Given the description of an element on the screen output the (x, y) to click on. 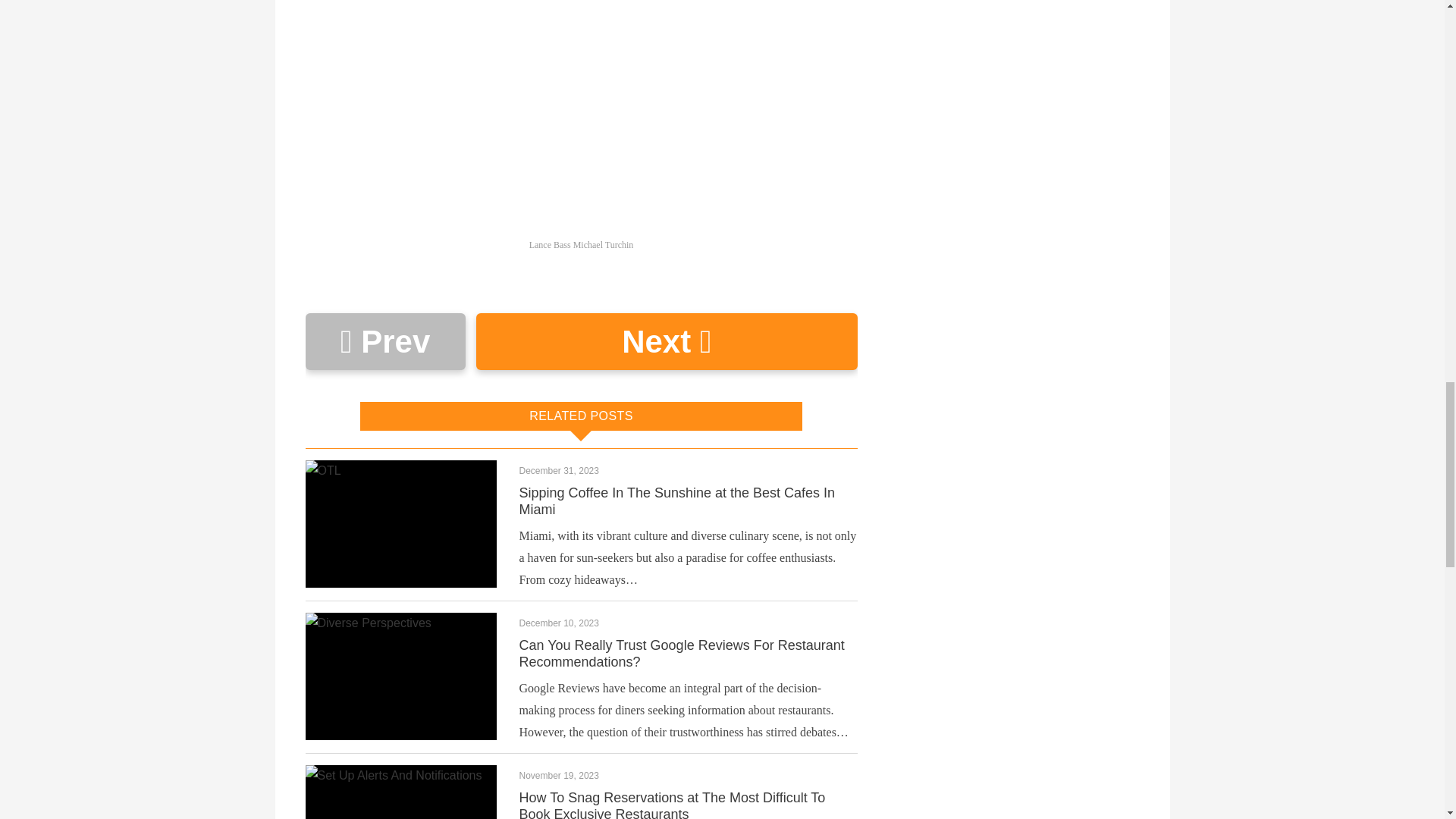
Prev (384, 341)
Next (666, 341)
Sipping Coffee In The Sunshine at the Best Cafes In Miami (676, 500)
